Given the description of an element on the screen output the (x, y) to click on. 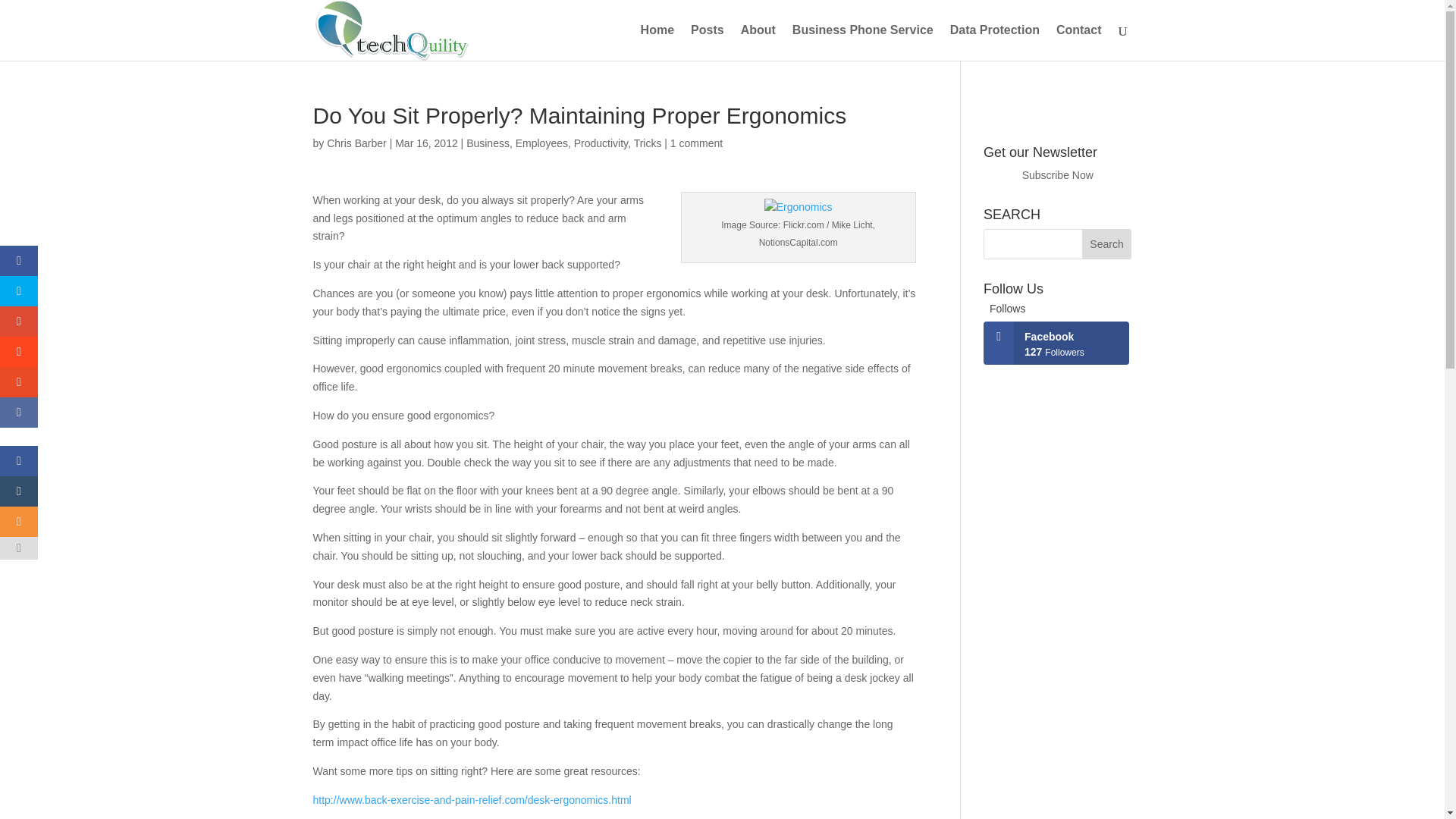
Business (487, 143)
Posts by Chris Barber (356, 143)
Data Protection (994, 42)
Search (1106, 244)
Home (657, 42)
Tricks (647, 143)
1 comment (695, 143)
Productivity (600, 143)
Contact (1079, 42)
Ergonomics (798, 208)
Subscribe Now (1057, 174)
Chris Barber (356, 143)
Posts (706, 42)
Business Phone Service (862, 42)
Employees (541, 143)
